Given the description of an element on the screen output the (x, y) to click on. 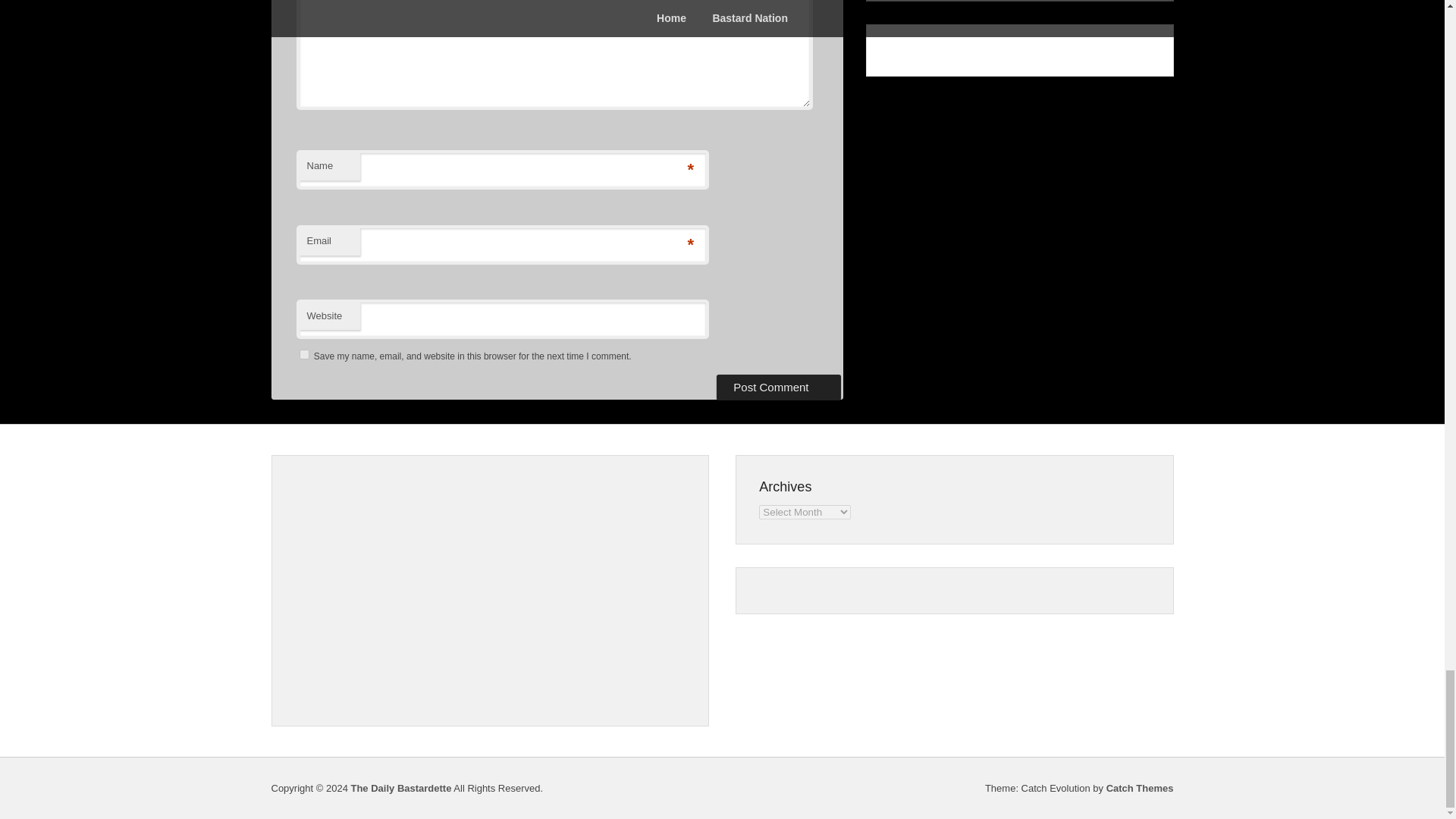
Catch Themes (1139, 787)
yes (303, 354)
The Daily Bastardette (400, 787)
Post Comment (778, 387)
